Given the description of an element on the screen output the (x, y) to click on. 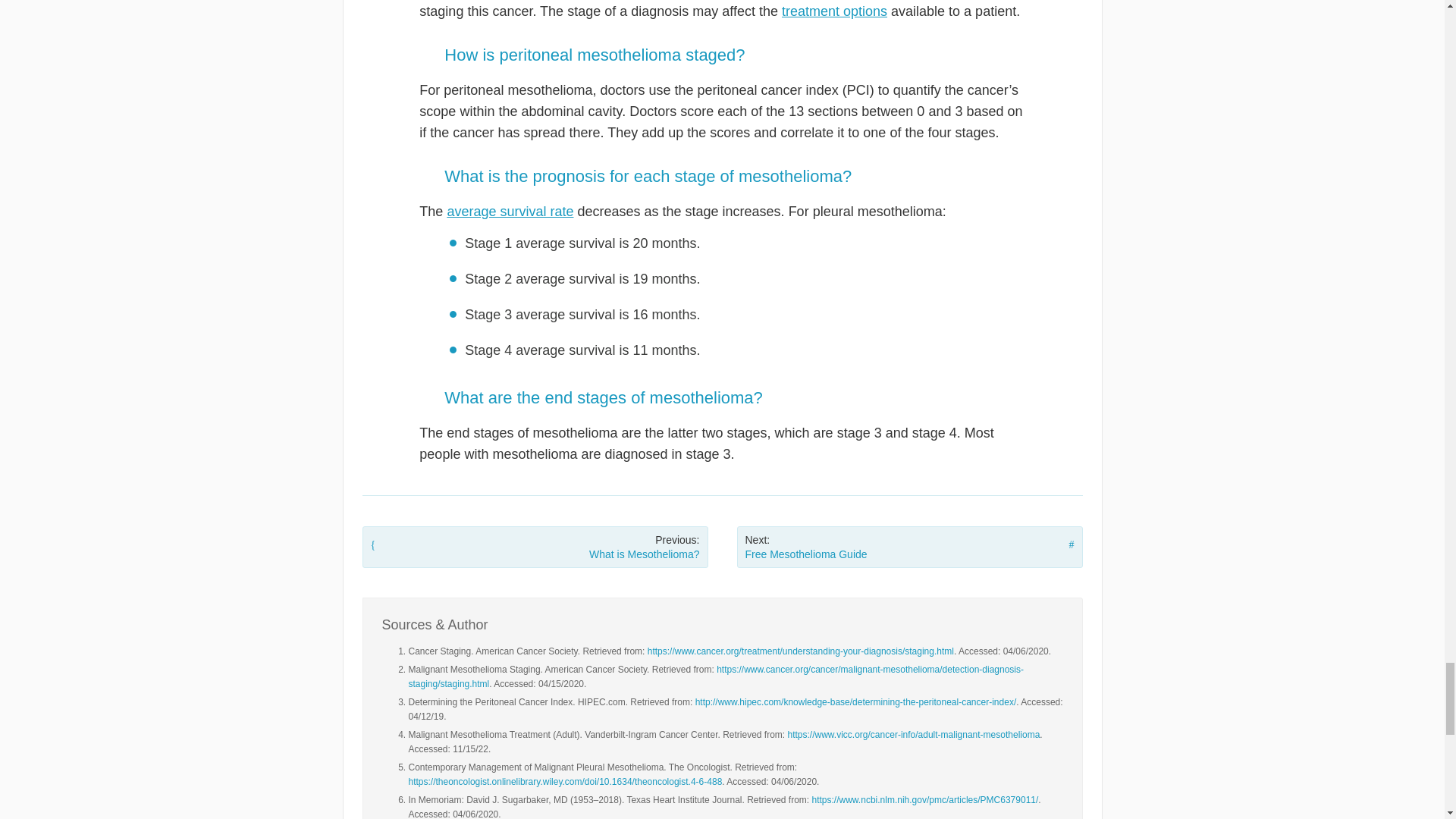
Free Mesothelioma Guide (909, 547)
What is Mesothelioma? (534, 547)
